Given the description of an element on the screen output the (x, y) to click on. 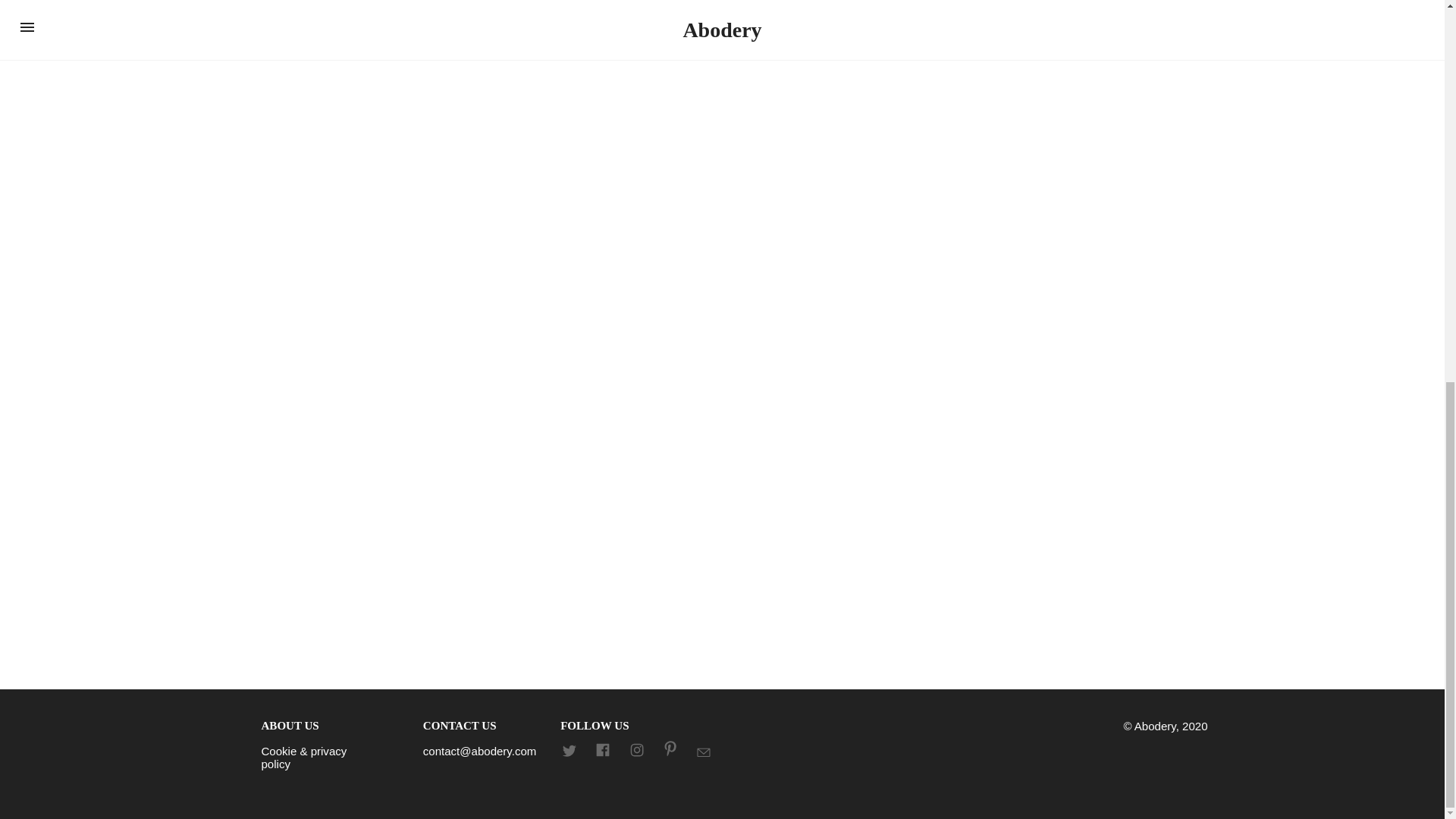
Twitter (569, 751)
email (703, 754)
instagram (636, 751)
email (703, 753)
Facebook (602, 750)
Facebook (602, 751)
instagram (636, 751)
